Given the description of an element on the screen output the (x, y) to click on. 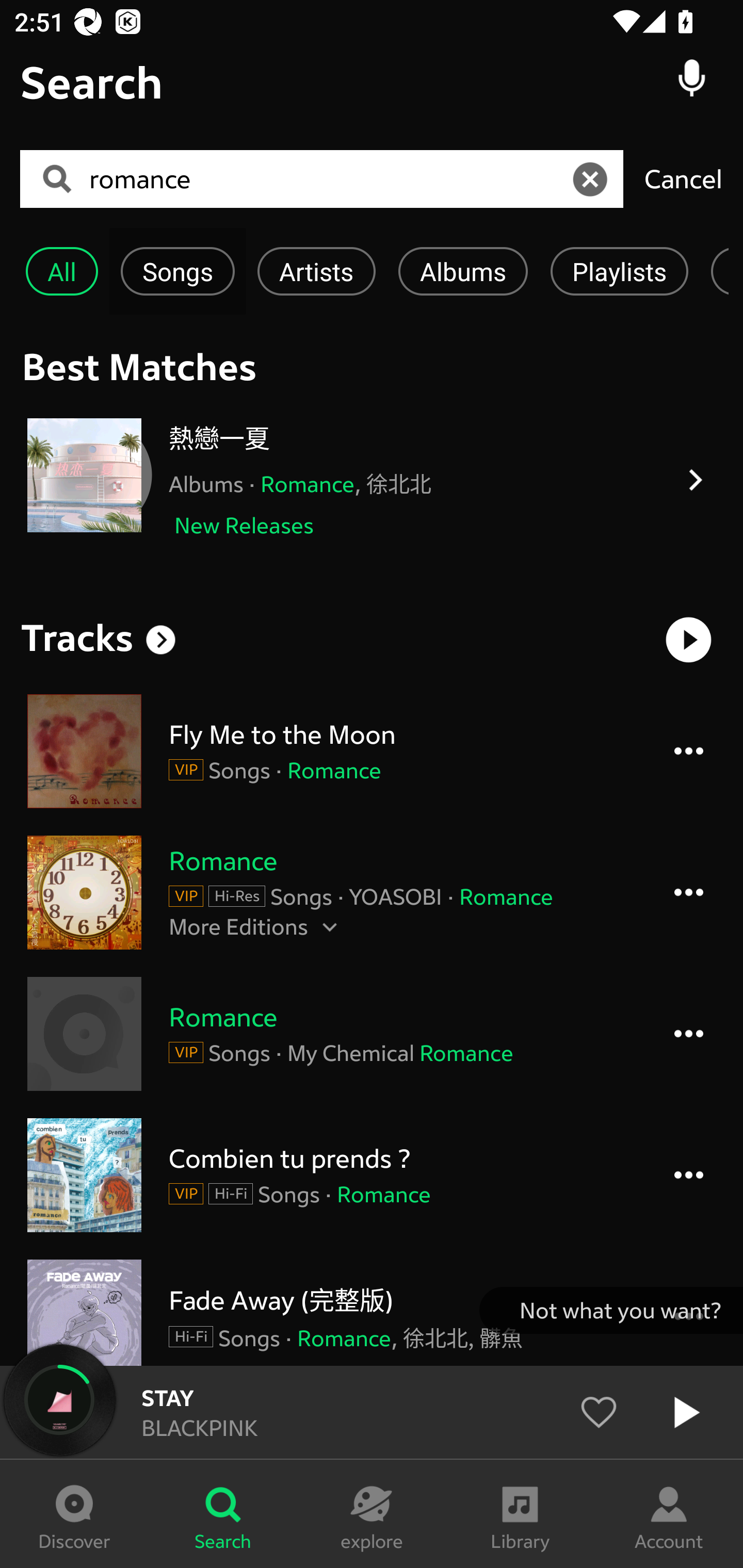
Cancel (683, 178)
romance (327, 179)
Songs (177, 271)
Artists (316, 271)
Albums (463, 271)
Playlists (619, 271)
Best Matches (371, 365)
熱戀一夏 Albums · Romance, 徐北北 New Releases (371, 480)
Tracks (77, 637)
Fly Me to the Moon VIP Songs · Romance (371, 750)
More Editions (401, 925)
Romance VIP Songs · My Chemical Romance (371, 1033)
Combien tu prends ? VIP Hi-Fi Songs · Romance (371, 1174)
Fade Away (完整版) Hi-Fi Songs · Romance, 徐北北, 髒魚 (371, 1312)
STAY BLACKPINK (371, 1412)
Discover (74, 1513)
explore (371, 1513)
Library (519, 1513)
Account (668, 1513)
